Given the description of an element on the screen output the (x, y) to click on. 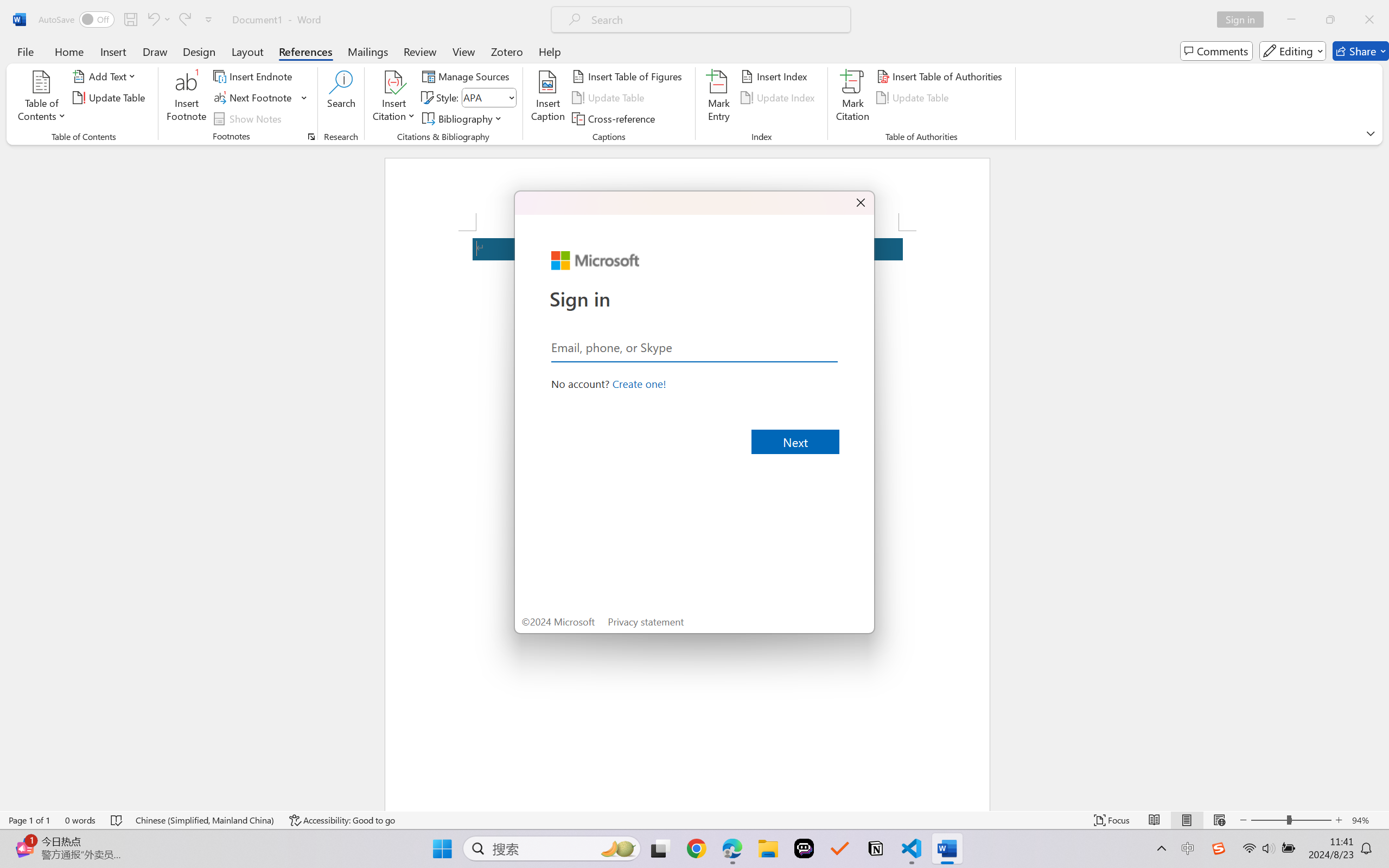
Insert Table of Figures... (628, 75)
Manage Sources... (467, 75)
Undo Apply Quick Style Set (158, 19)
